Given the description of an element on the screen output the (x, y) to click on. 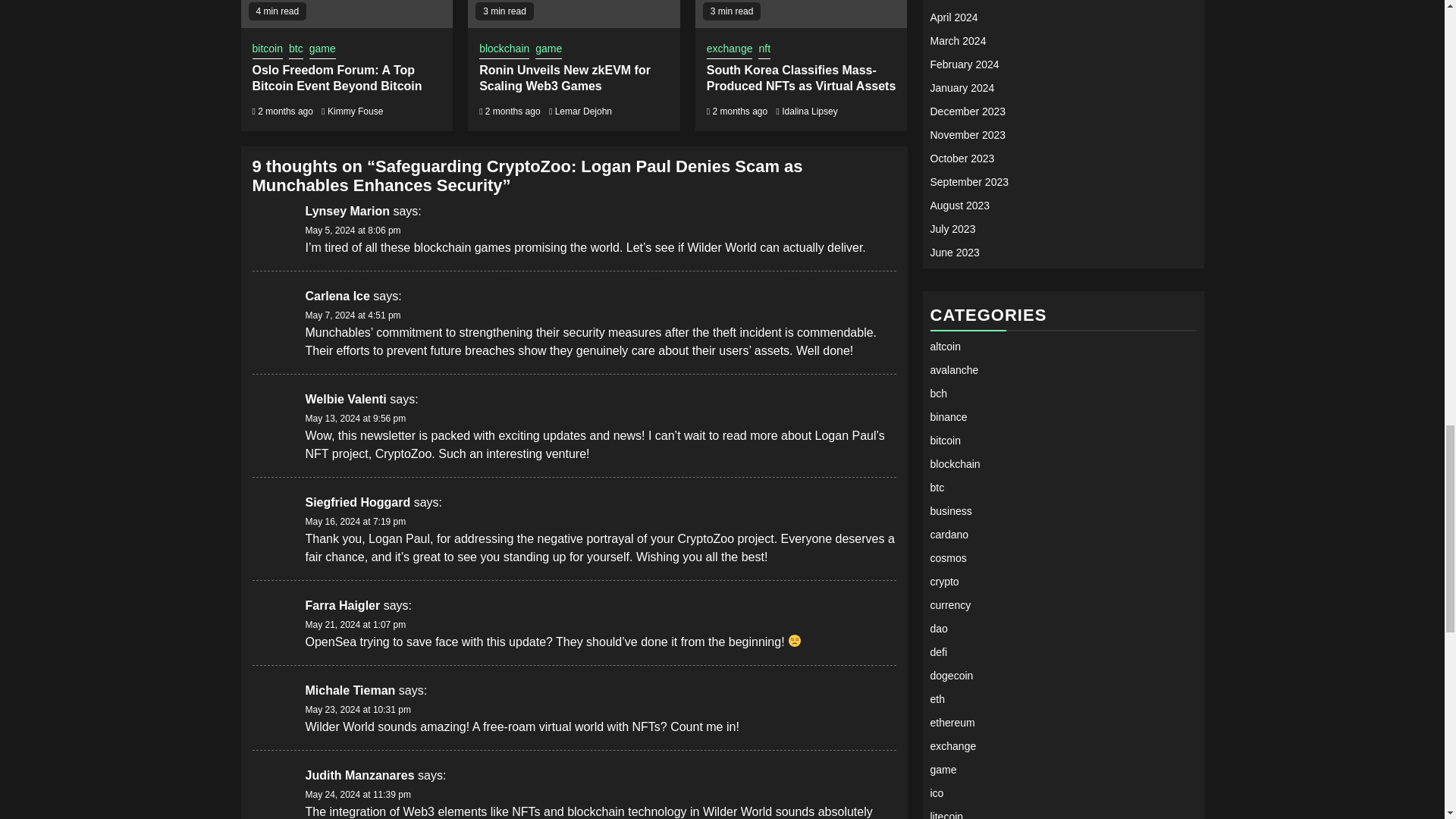
Oslo Freedom Forum: A Top Bitcoin Event Beyond Bitcoin (336, 77)
May 21, 2024 at 1:07 pm (355, 624)
May 5, 2024 at 8:06 pm (352, 230)
Kimmy Fouse (354, 111)
May 13, 2024 at 9:56 pm (355, 418)
blockchain (504, 49)
May 7, 2024 at 4:51 pm (352, 315)
bitcoin (266, 49)
South Korea Classifies Mass-Produced NFTs as Virtual Assets (801, 77)
game (322, 49)
